Given the description of an element on the screen output the (x, y) to click on. 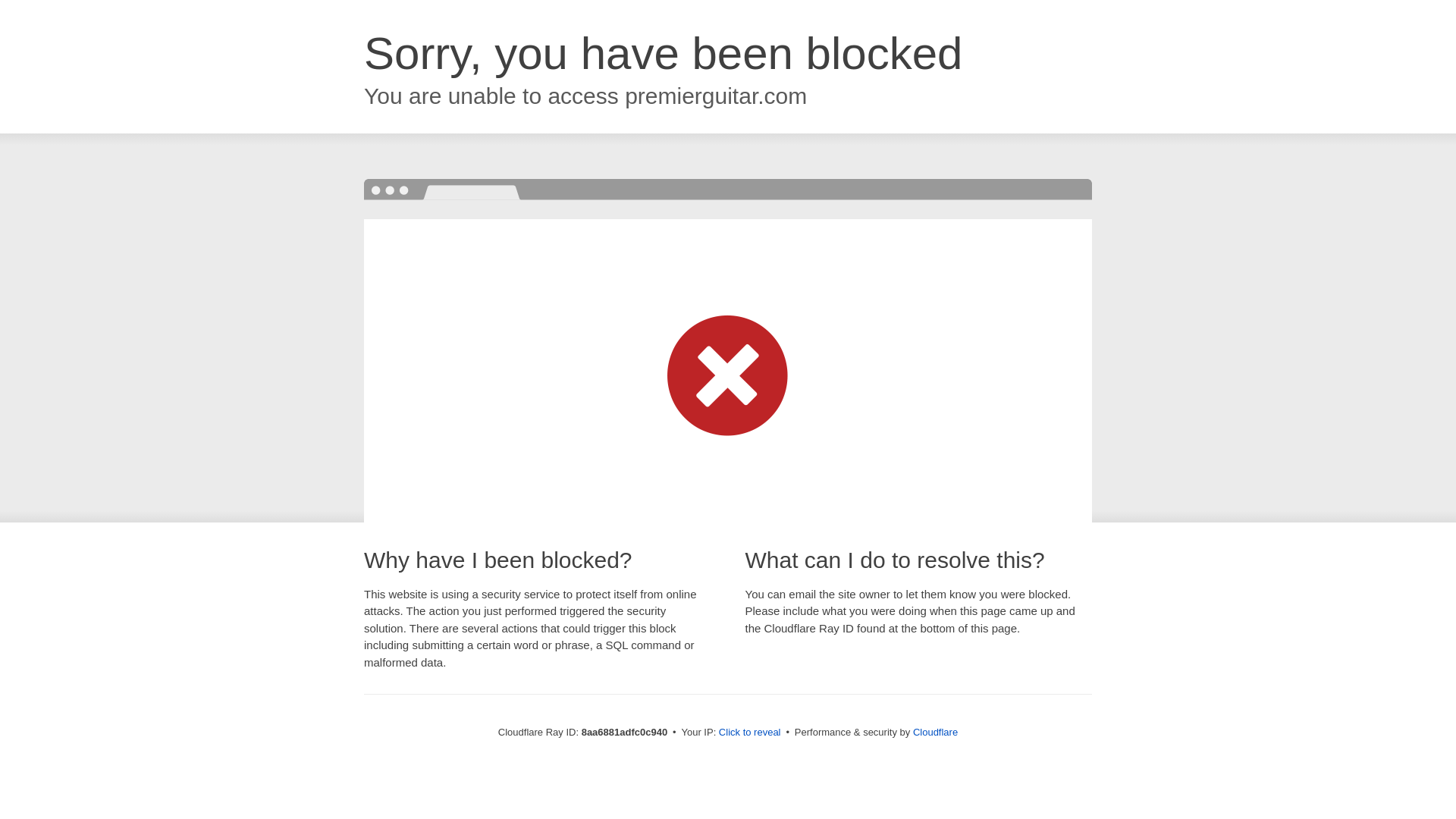
Click to reveal (749, 732)
Cloudflare (935, 731)
